Given the description of an element on the screen output the (x, y) to click on. 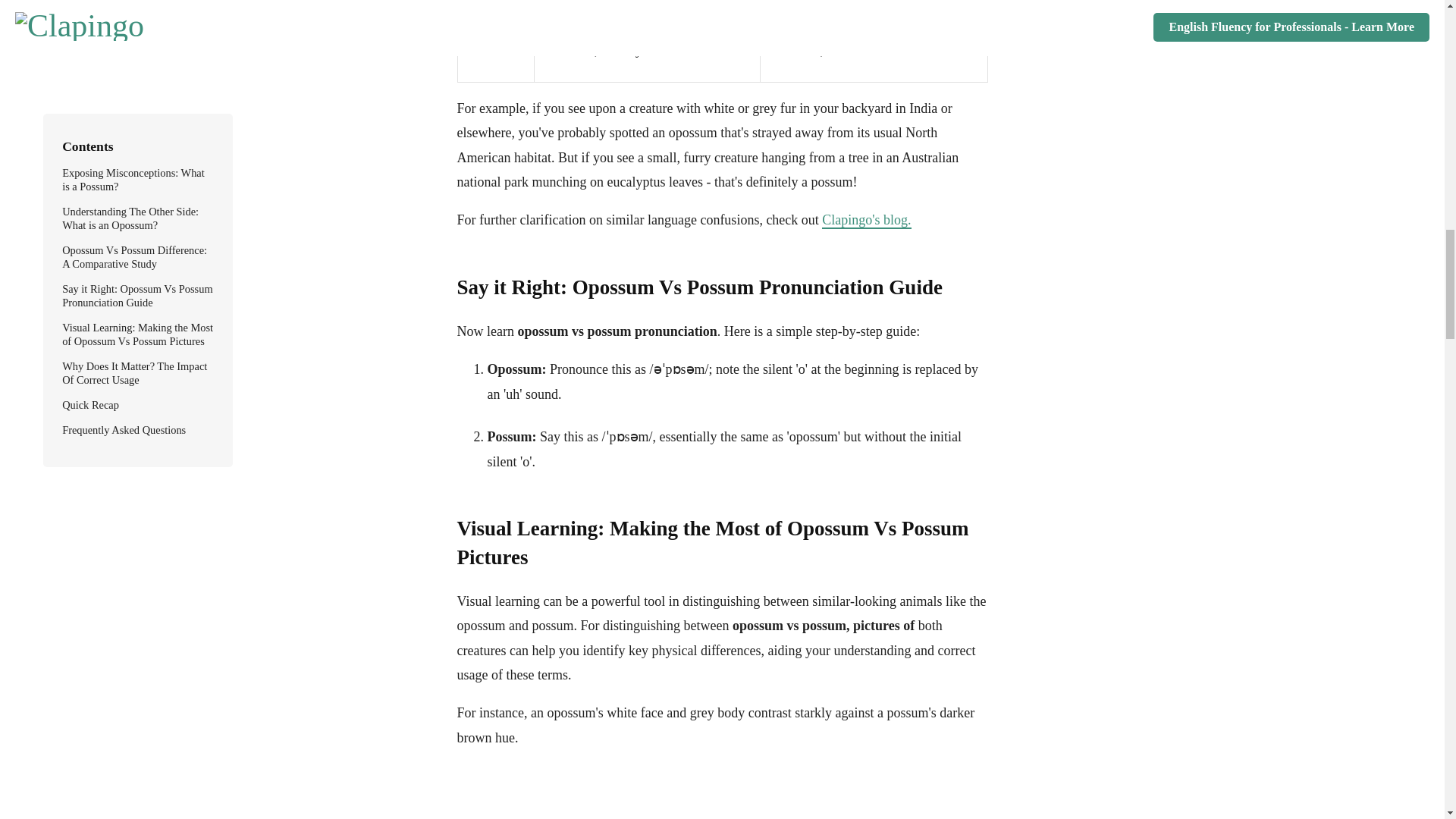
Clapingo's blog. (866, 220)
